Given the description of an element on the screen output the (x, y) to click on. 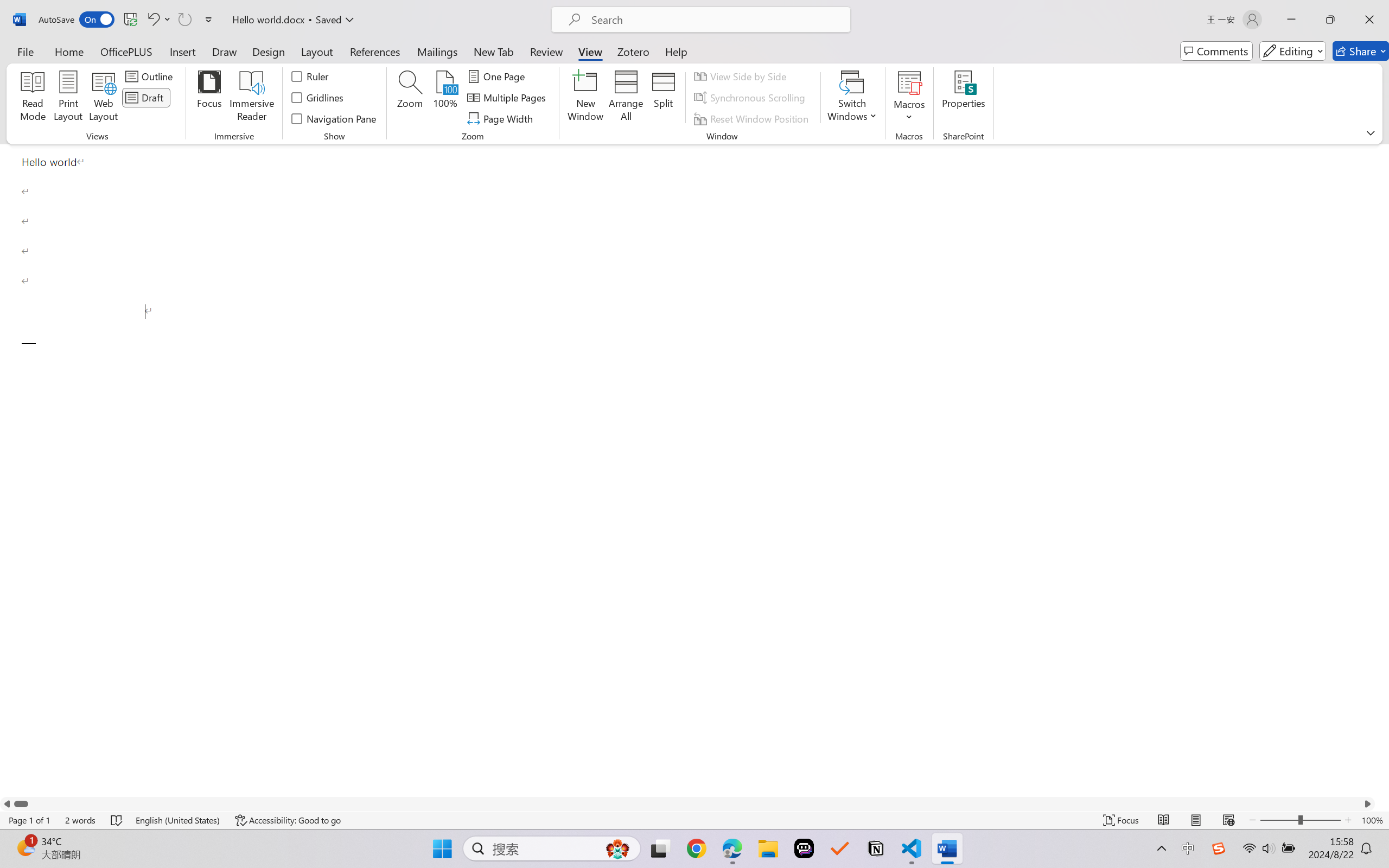
Mailings (437, 51)
Layout (316, 51)
Editing (1292, 50)
Undo Paragraph Formatting (158, 19)
Web Layout (1228, 819)
Column right (1368, 803)
Page Number Page 1 of 1 (29, 819)
Page right (694, 803)
Focus (209, 97)
Outline (150, 75)
Class: Image (1218, 847)
New Tab (493, 51)
View (589, 51)
